Given the description of an element on the screen output the (x, y) to click on. 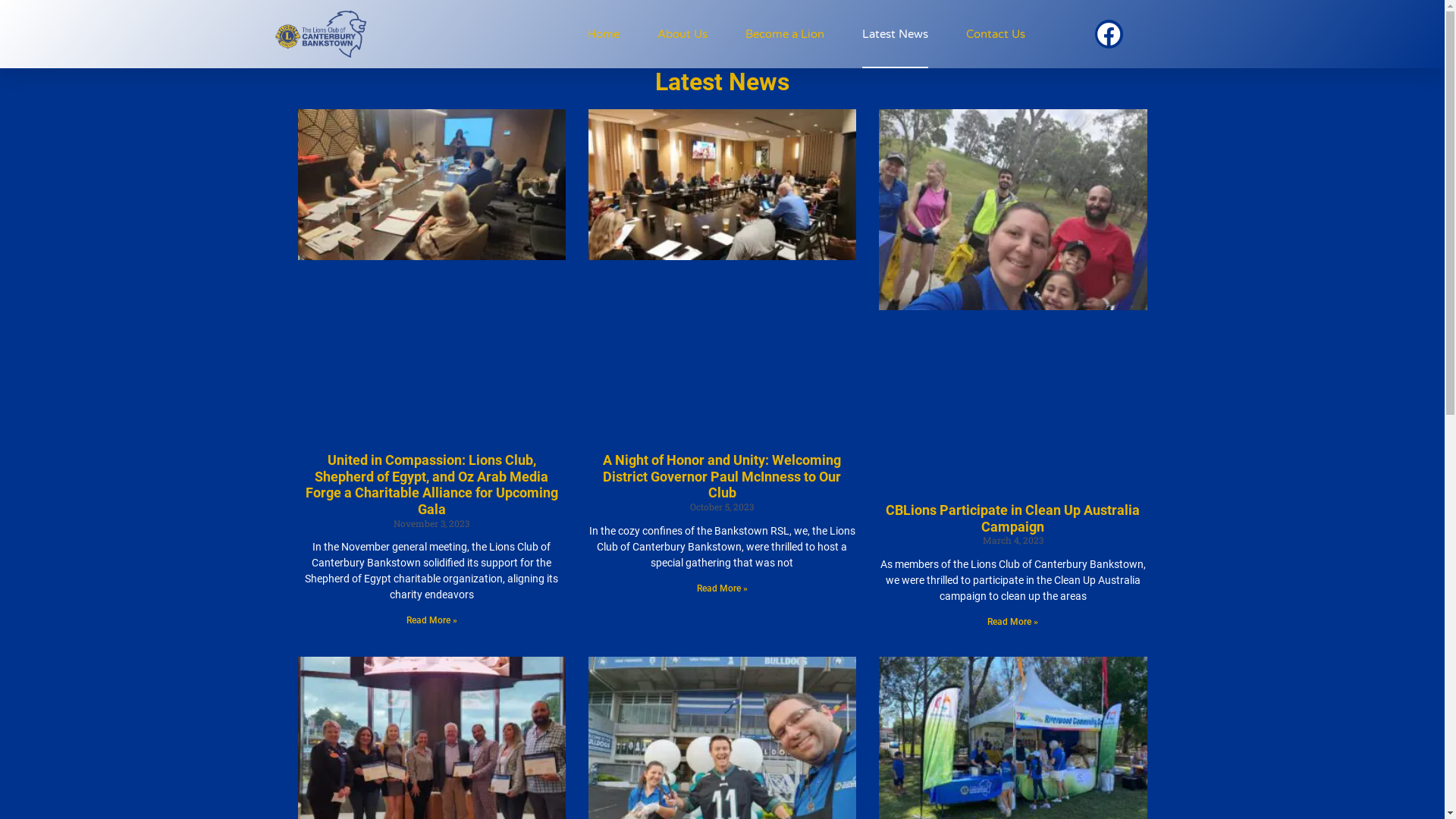
Become a Lion Element type: text (784, 34)
Home Element type: text (603, 34)
Latest News Element type: text (895, 34)
Contact Us Element type: text (995, 34)
CBLions Participate in Clean Up Australia Campaign Element type: text (1012, 518)
About Us Element type: text (682, 34)
